Given the description of an element on the screen output the (x, y) to click on. 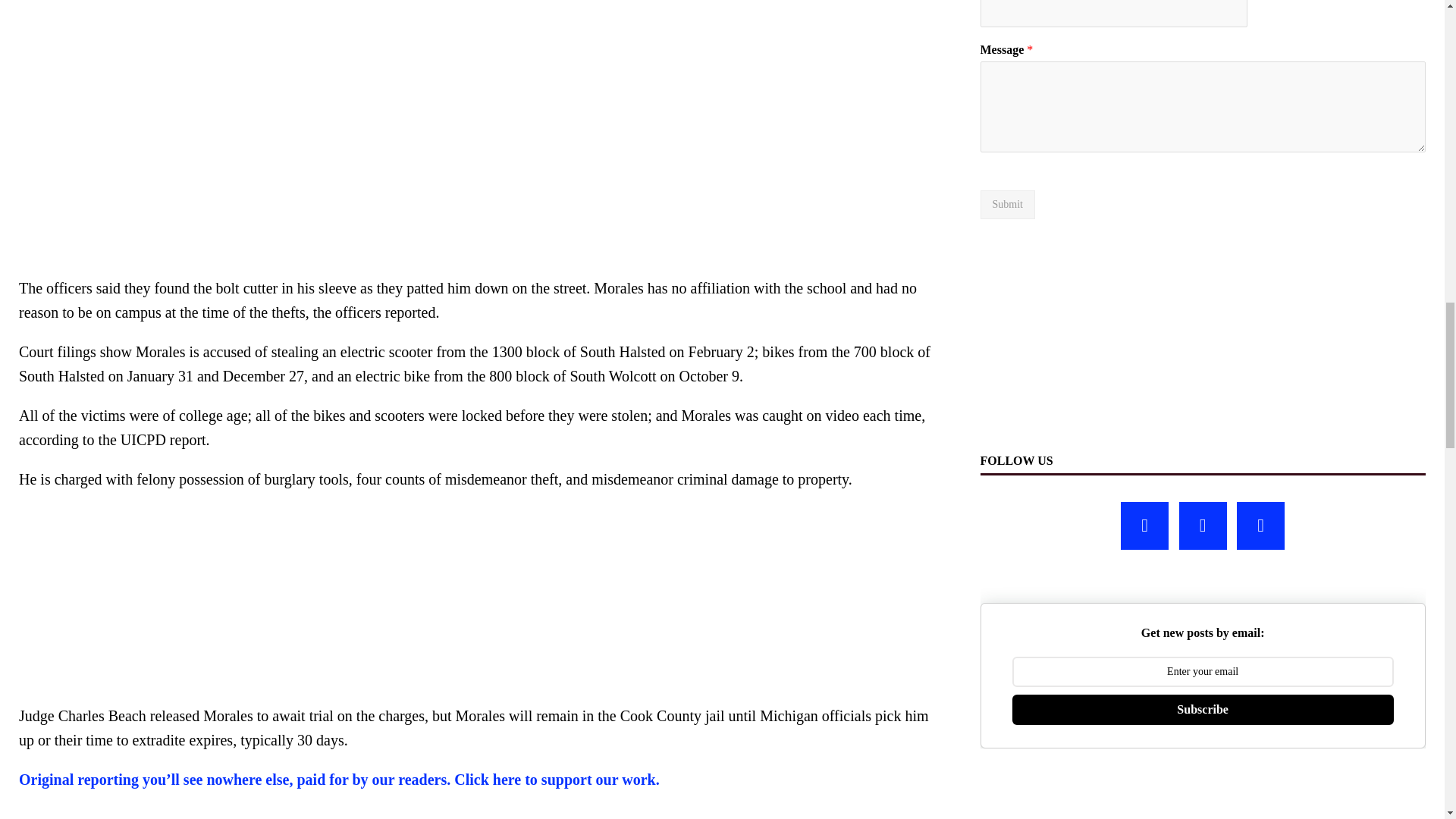
Subscribe (1202, 709)
Submit (1007, 204)
Click here to support our work. (556, 779)
